Given the description of an element on the screen output the (x, y) to click on. 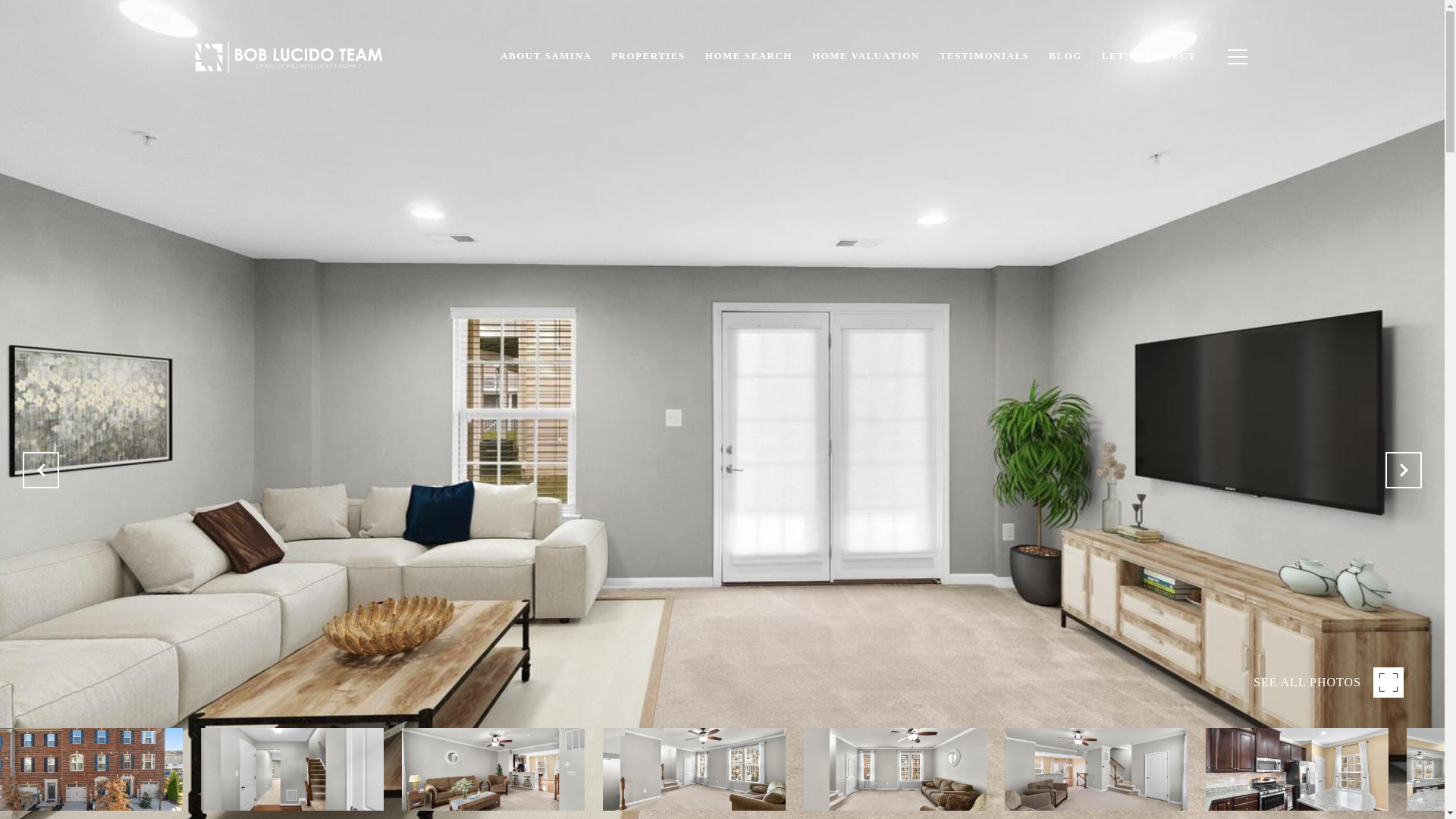
ABOUT SAMINA (545, 55)
HOME SEARCH (748, 55)
PROPERTIES (648, 55)
BLOG (1065, 55)
HOME VALUATION (866, 55)
LET'S CONNECT (1149, 55)
TESTIMONIALS (984, 55)
